Given the description of an element on the screen output the (x, y) to click on. 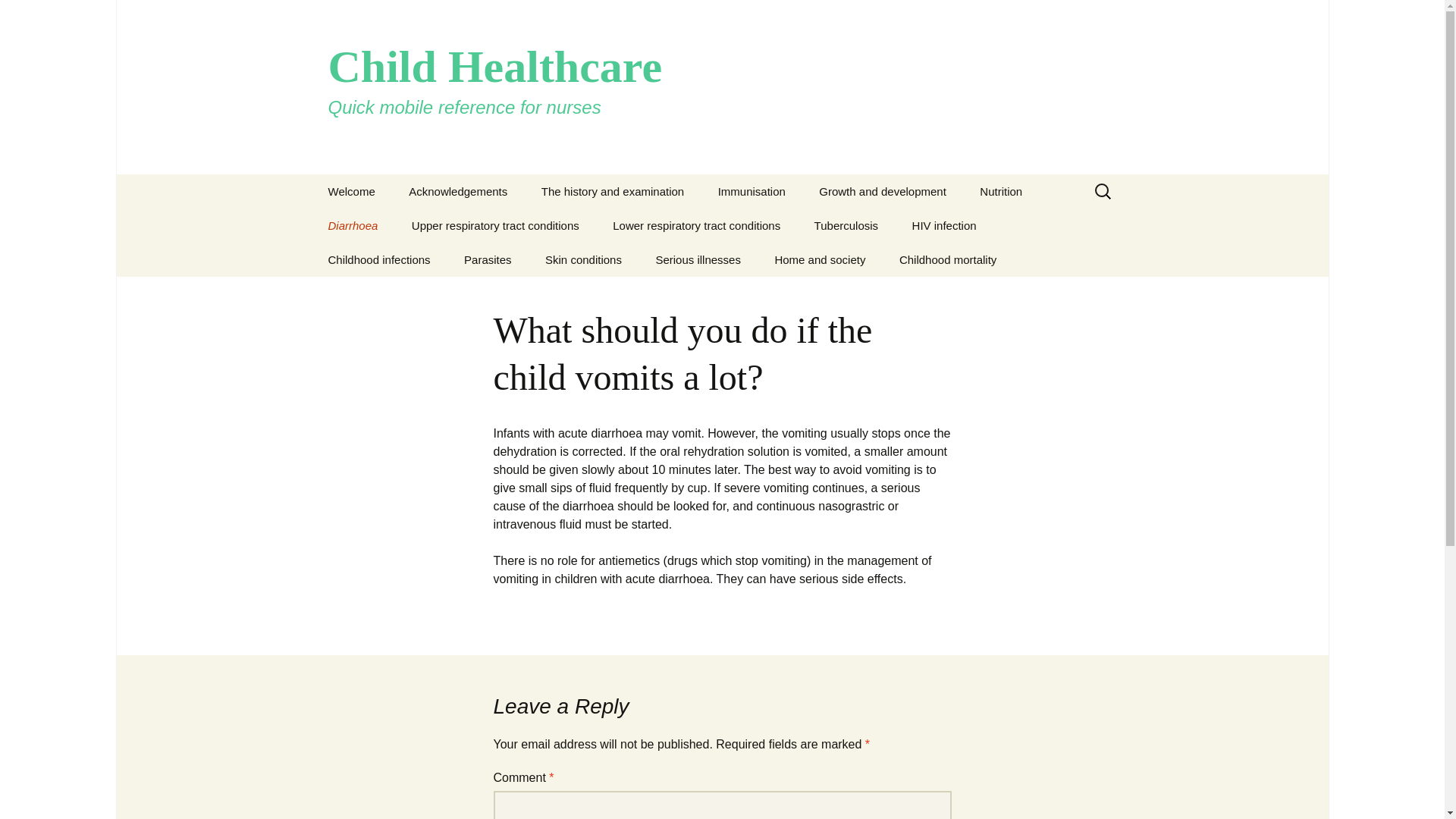
Welcome (351, 191)
The history and examination (611, 191)
Acknowledgements (457, 191)
